Given the description of an element on the screen output the (x, y) to click on. 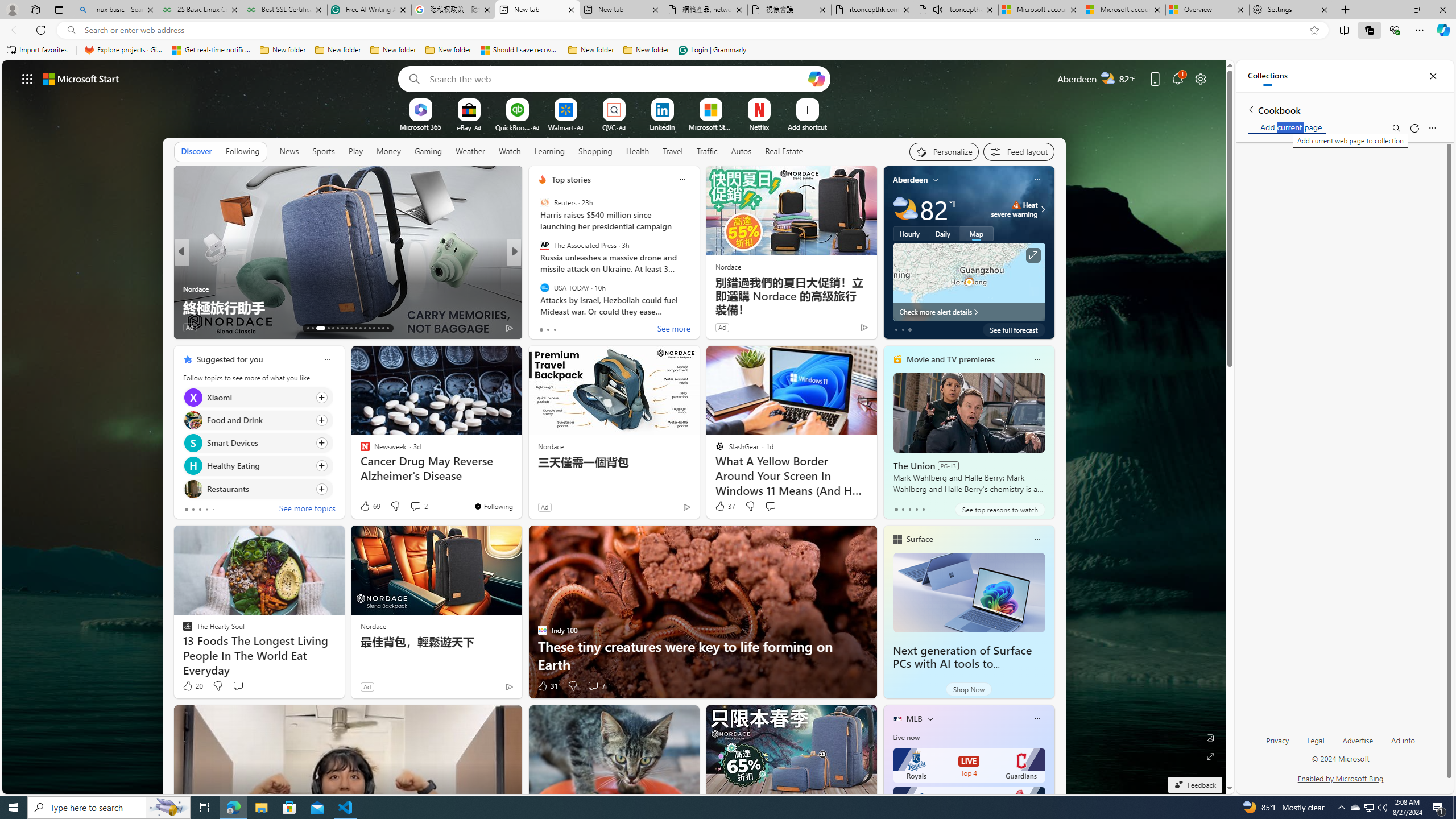
Daily (942, 233)
The 9 Highest Protein Nuts to Snack on Daily (697, 307)
Check more alert details (968, 311)
Mute tab (937, 8)
Suggested for you (229, 359)
15 Foods To Avoid After 40 for Better Health and Wellness (697, 298)
